Given the description of an element on the screen output the (x, y) to click on. 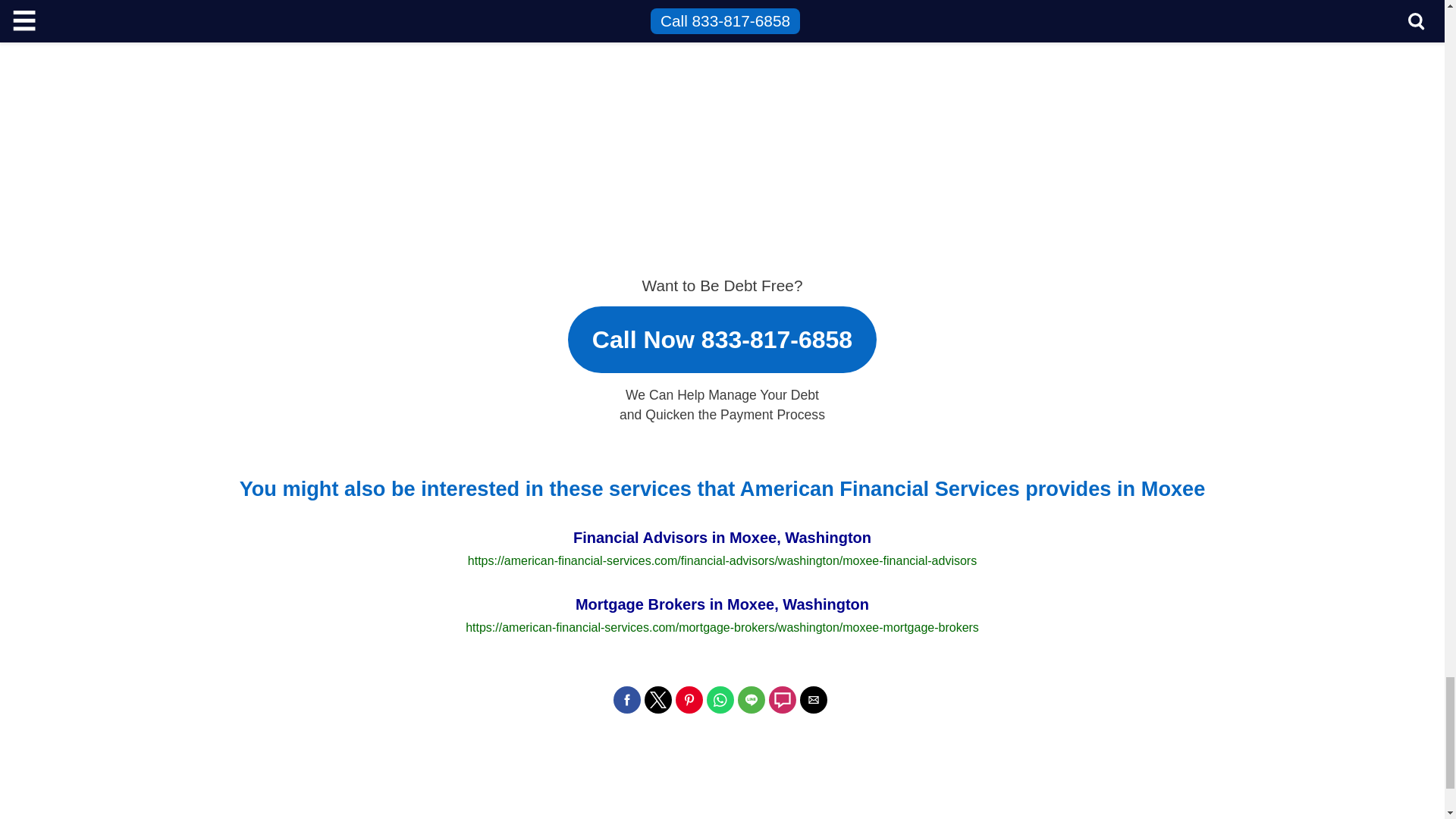
Mortgage Brokers in Moxee, Washington (721, 614)
Gain Financial Independence from Creditors Today (1040, 101)
Call Now 833-817-6858 (722, 332)
Financial Advisors in Moxee, Washington (721, 548)
